Given the description of an element on the screen output the (x, y) to click on. 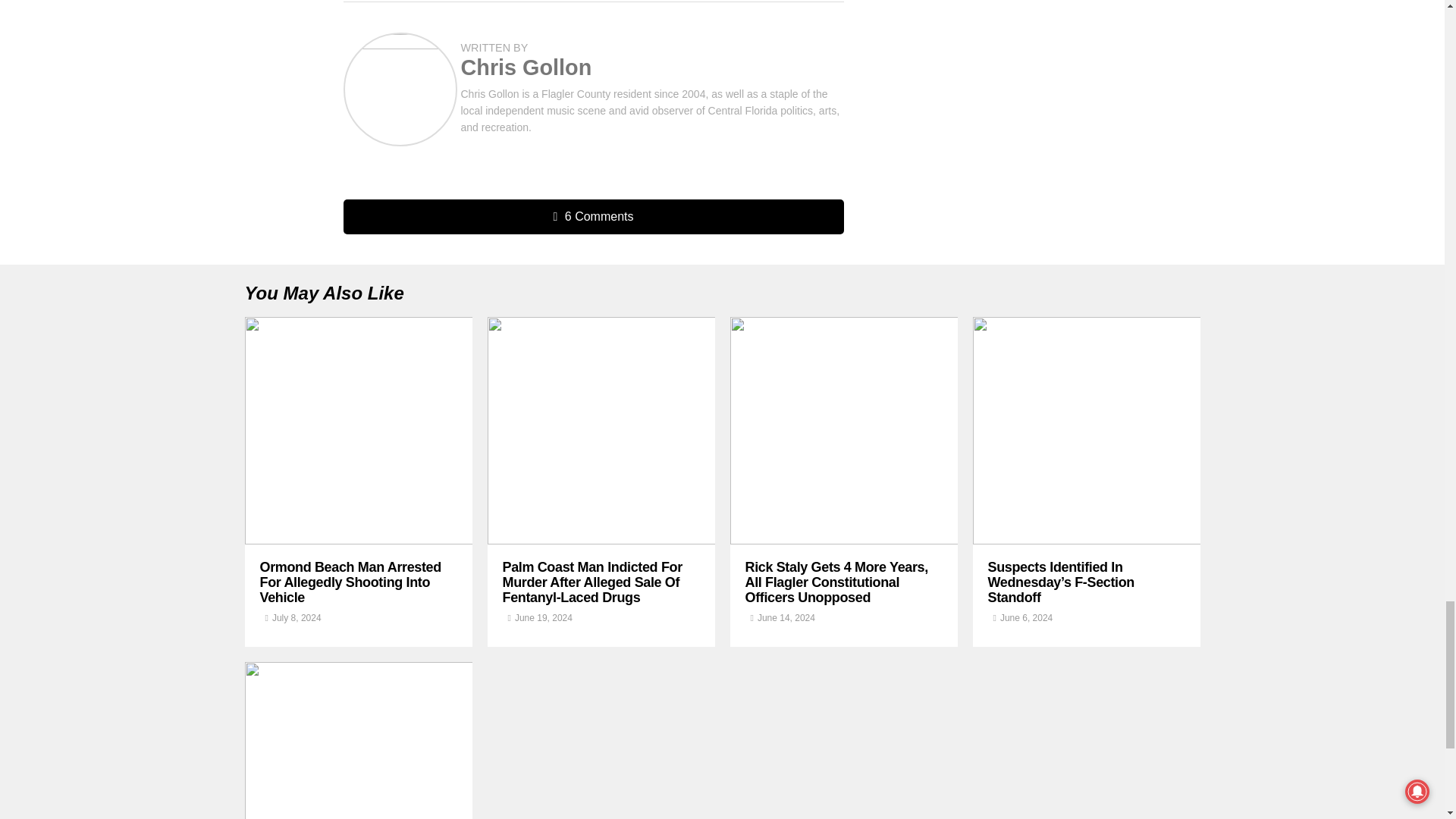
Posts by Chris Gollon (526, 67)
